Given the description of an element on the screen output the (x, y) to click on. 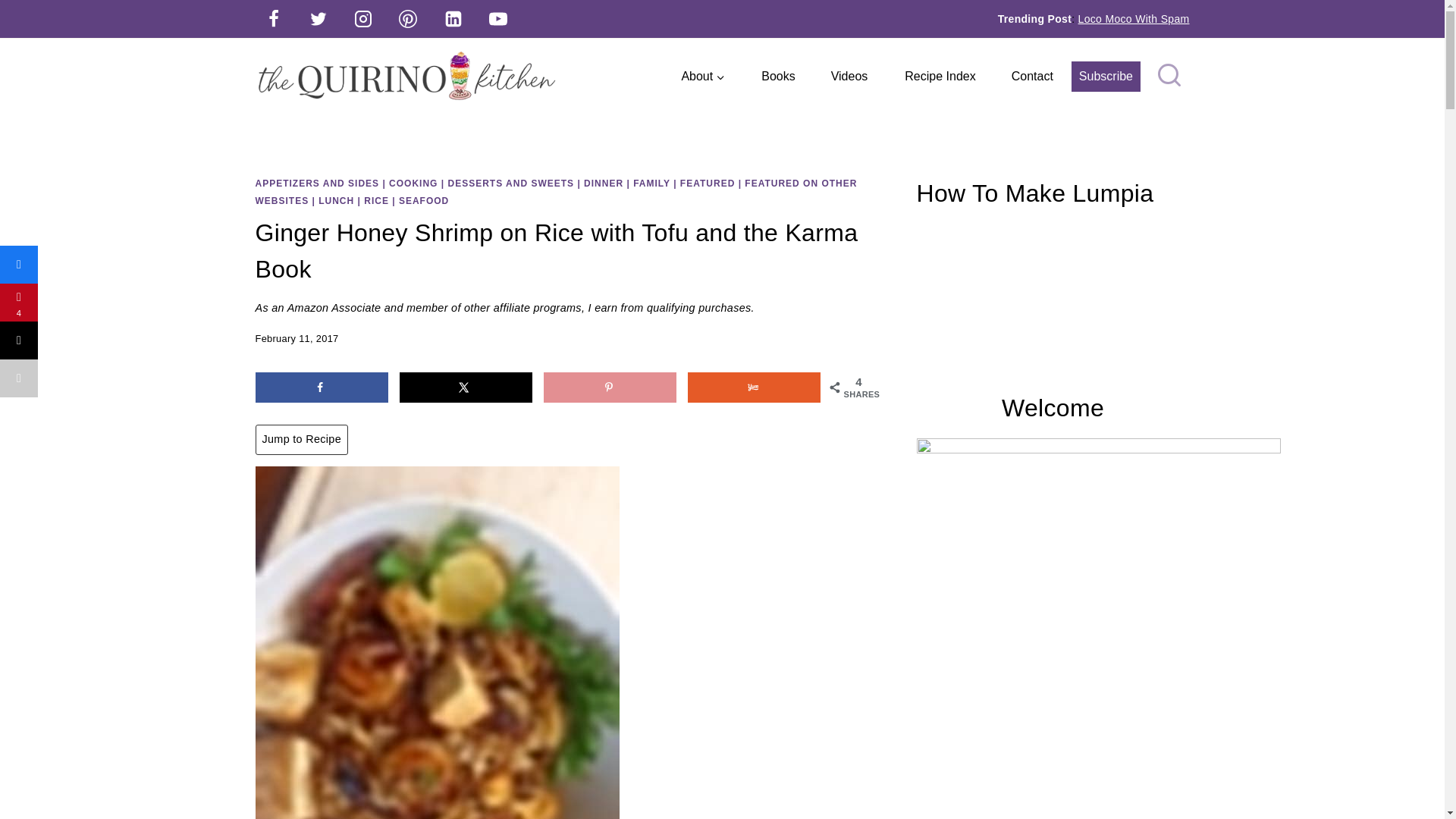
Share on Yummly (754, 387)
RICE (376, 200)
FEATURED ON OTHER WEBSITES (555, 192)
DESSERTS AND SWEETS (509, 183)
Books (777, 76)
Videos (849, 76)
APPETIZERS AND SIDES (316, 183)
How to make lumpia shanghai, pork-filled Filipino egg rolls (1052, 300)
COOKING (413, 183)
SEAFOOD (423, 200)
